Given the description of an element on the screen output the (x, y) to click on. 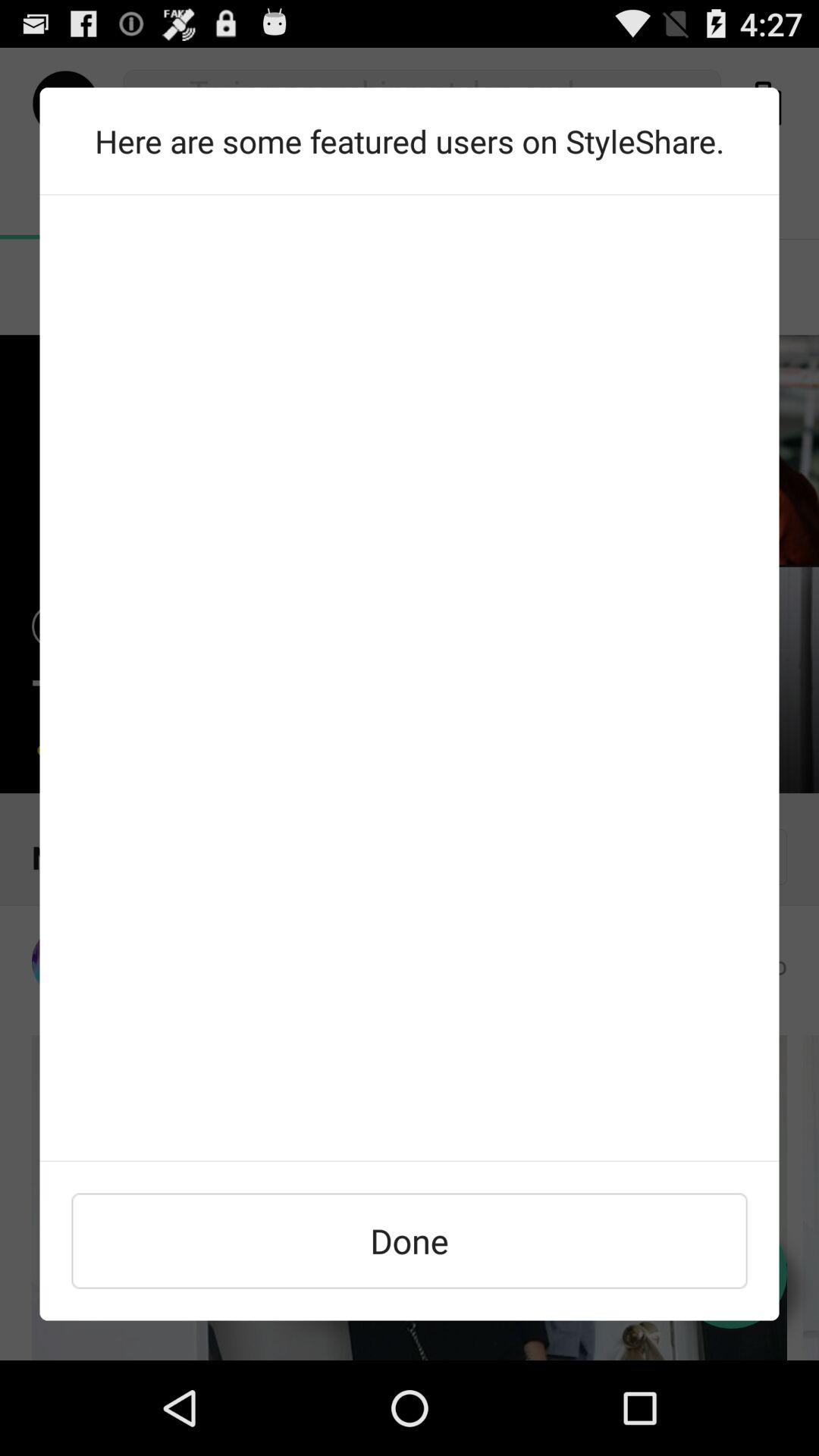
text area (409, 677)
